Given the description of an element on the screen output the (x, y) to click on. 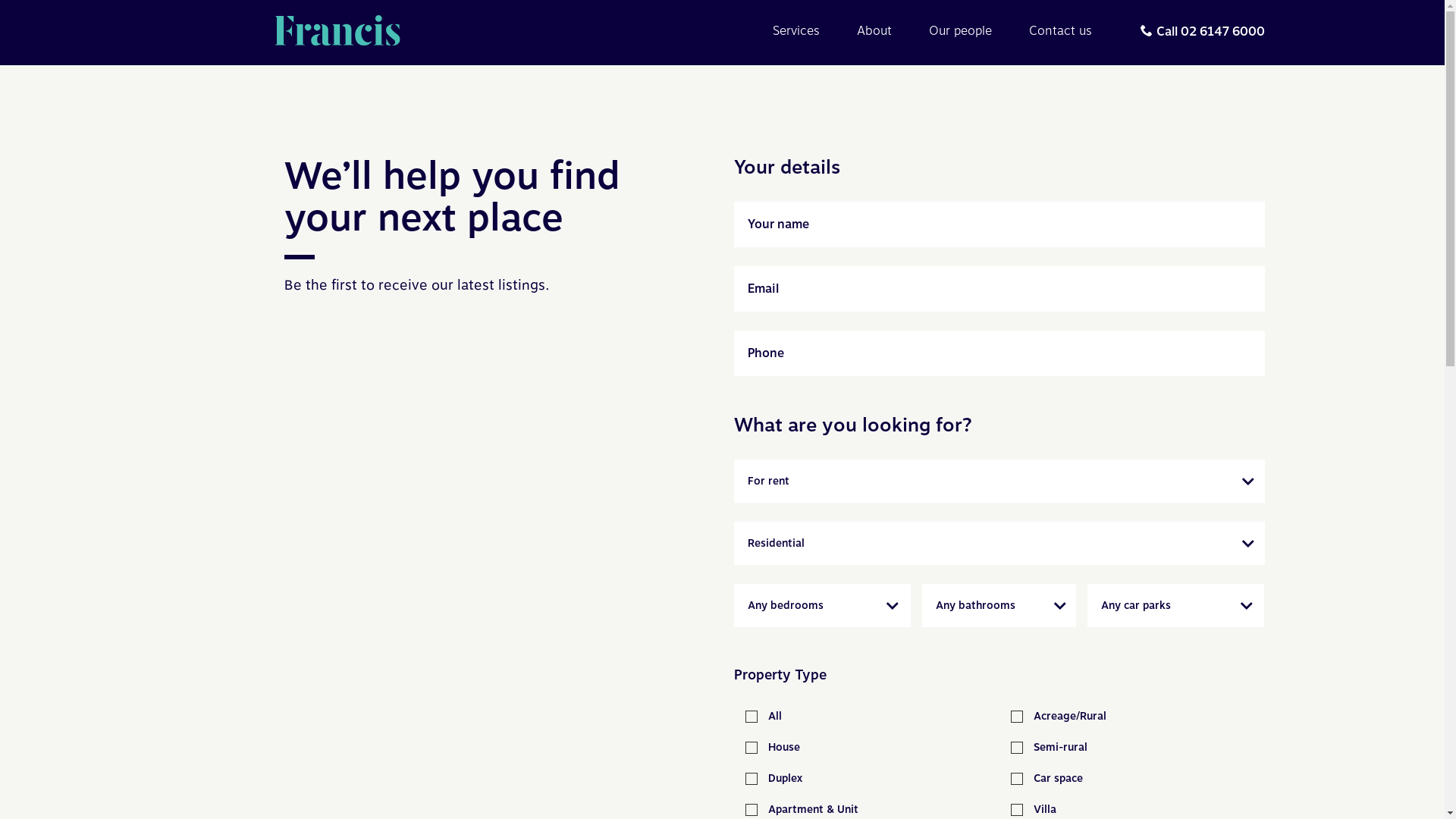
Services Element type: text (795, 30)
Contact us Element type: text (1060, 30)
About Element type: text (873, 30)
Our people Element type: text (959, 30)
